Given the description of an element on the screen output the (x, y) to click on. 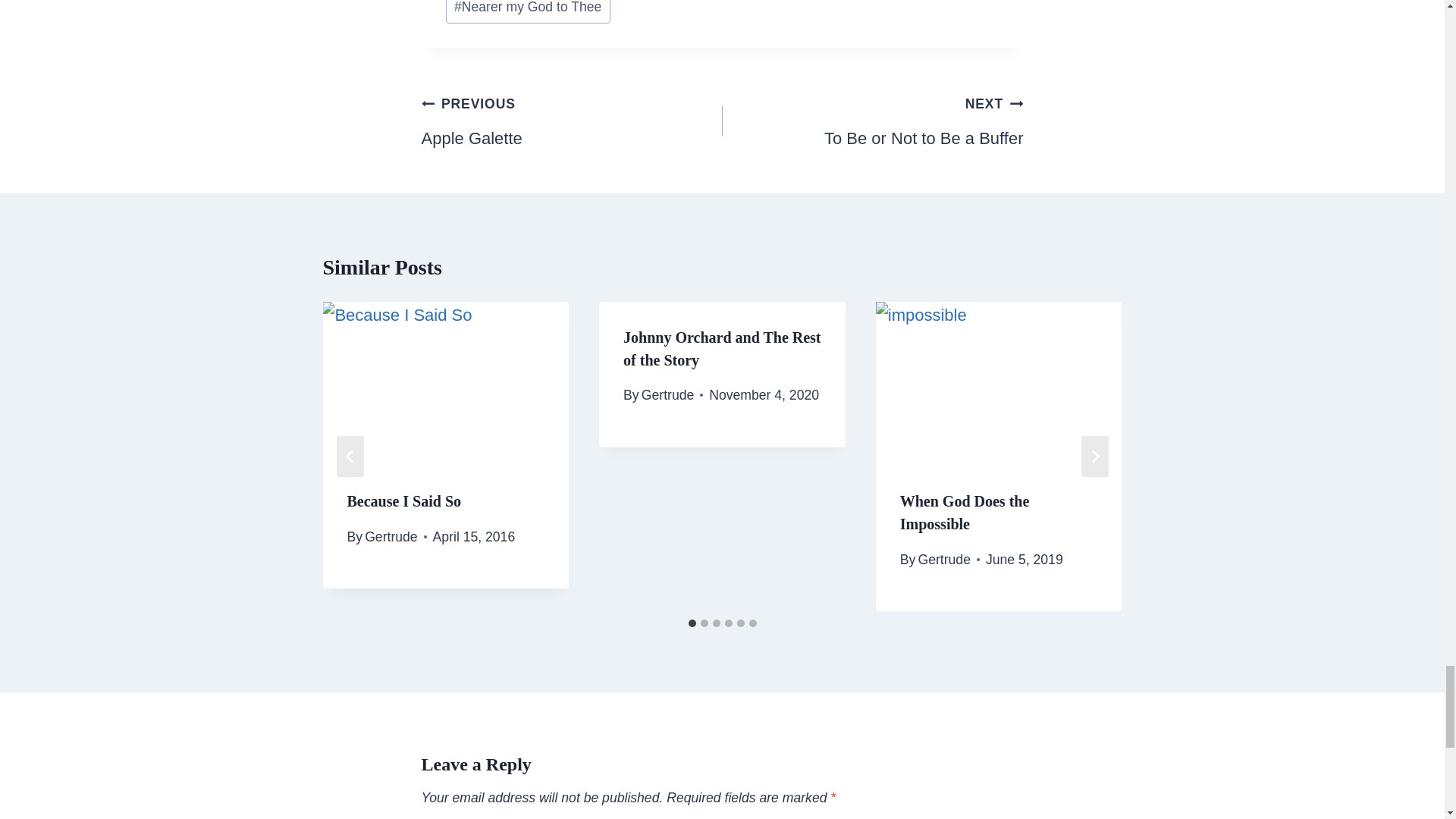
Nearer my God to Thee (572, 119)
